Given the description of an element on the screen output the (x, y) to click on. 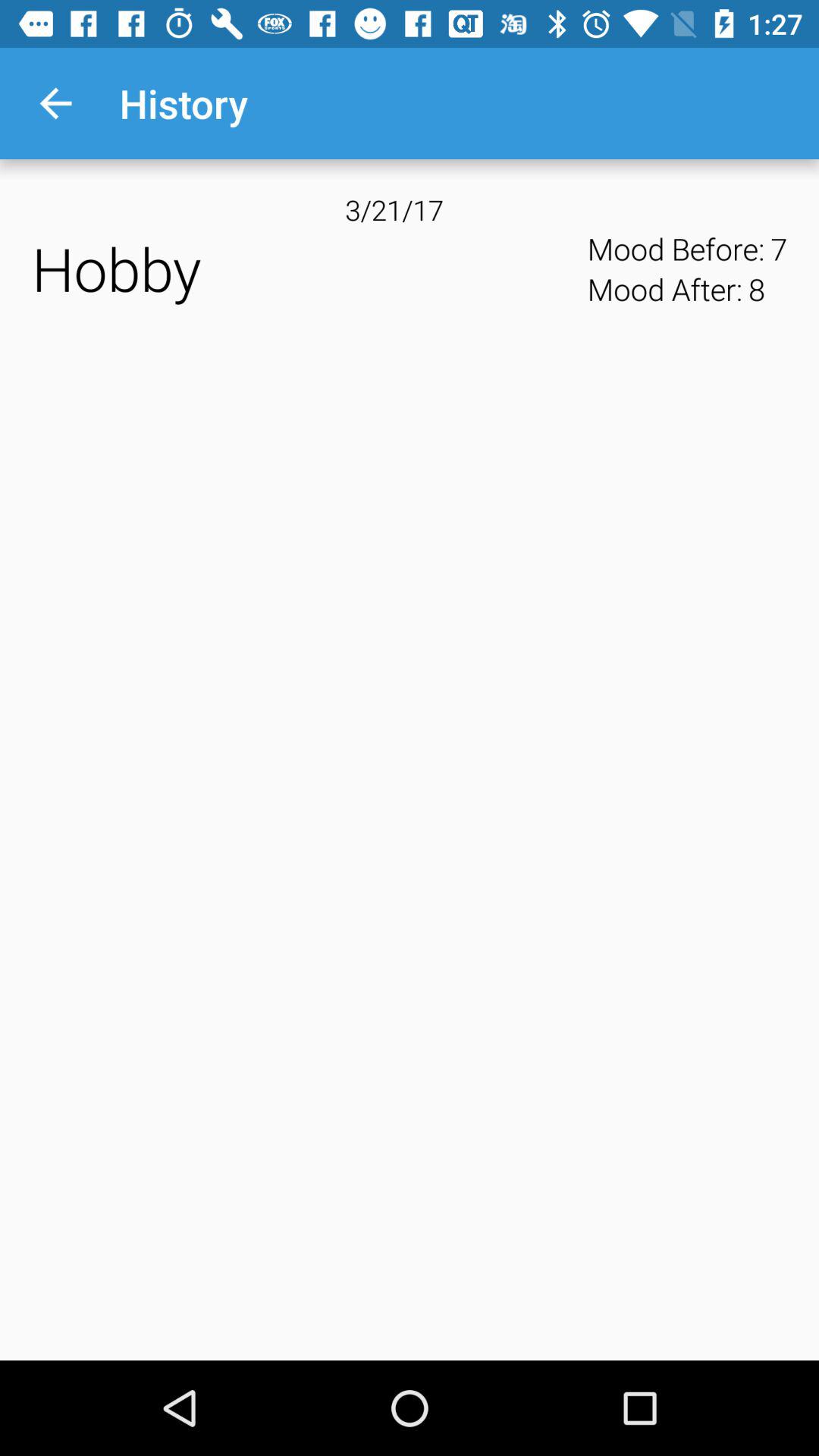
click the icon next to history (55, 103)
